Given the description of an element on the screen output the (x, y) to click on. 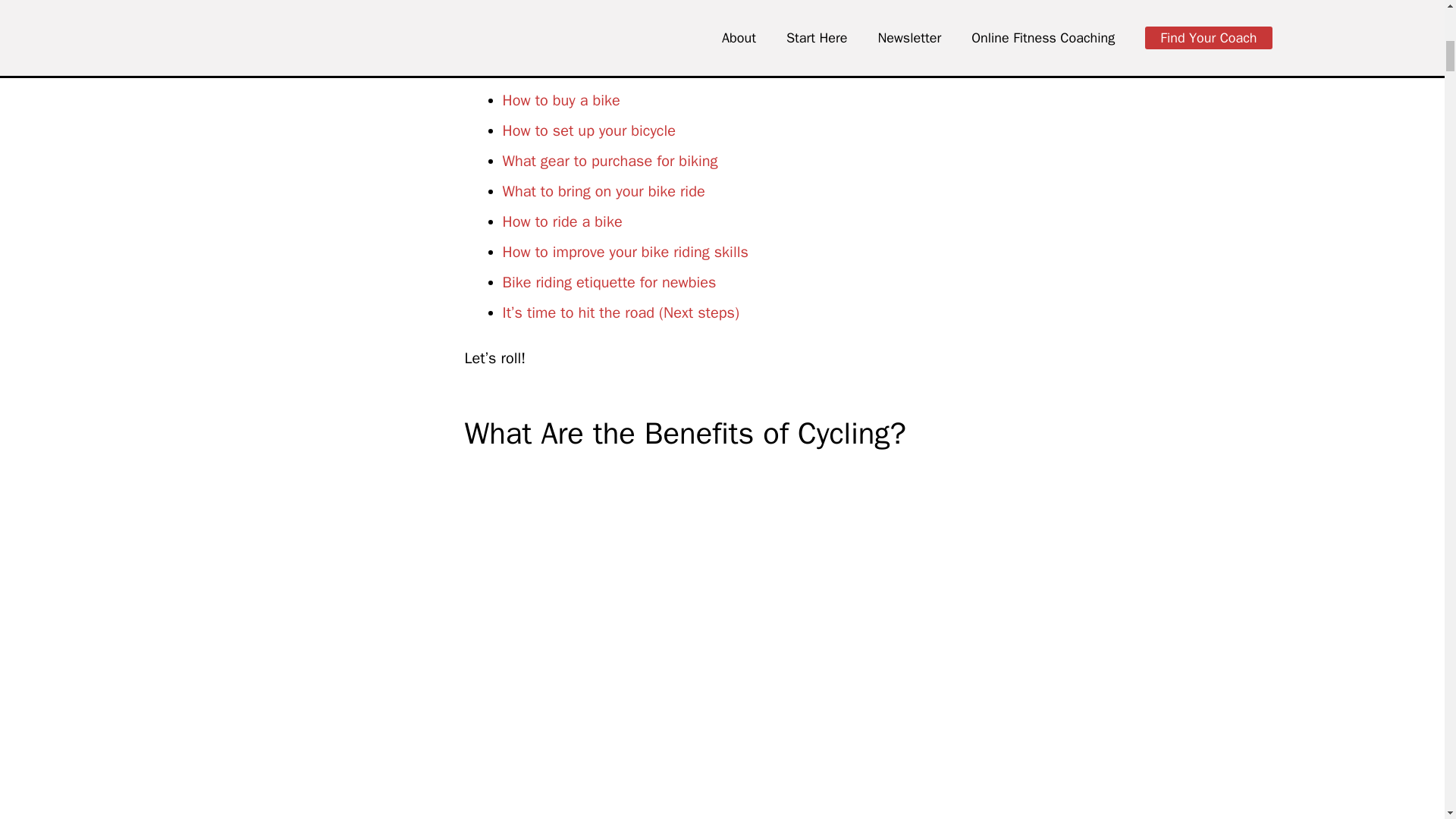
The 6 different types of cyclists (606, 69)
How to buy a bike (561, 99)
How to improve your bike riding skills (625, 251)
Back to top (1413, 26)
What are the benefits of cycling? (610, 39)
What to bring on your bike ride (603, 190)
How to set up your bicycle (588, 130)
How to ride a bike (561, 221)
Bike riding etiquette for newbies (609, 281)
What gear to purchase for biking (609, 160)
